Given the description of an element on the screen output the (x, y) to click on. 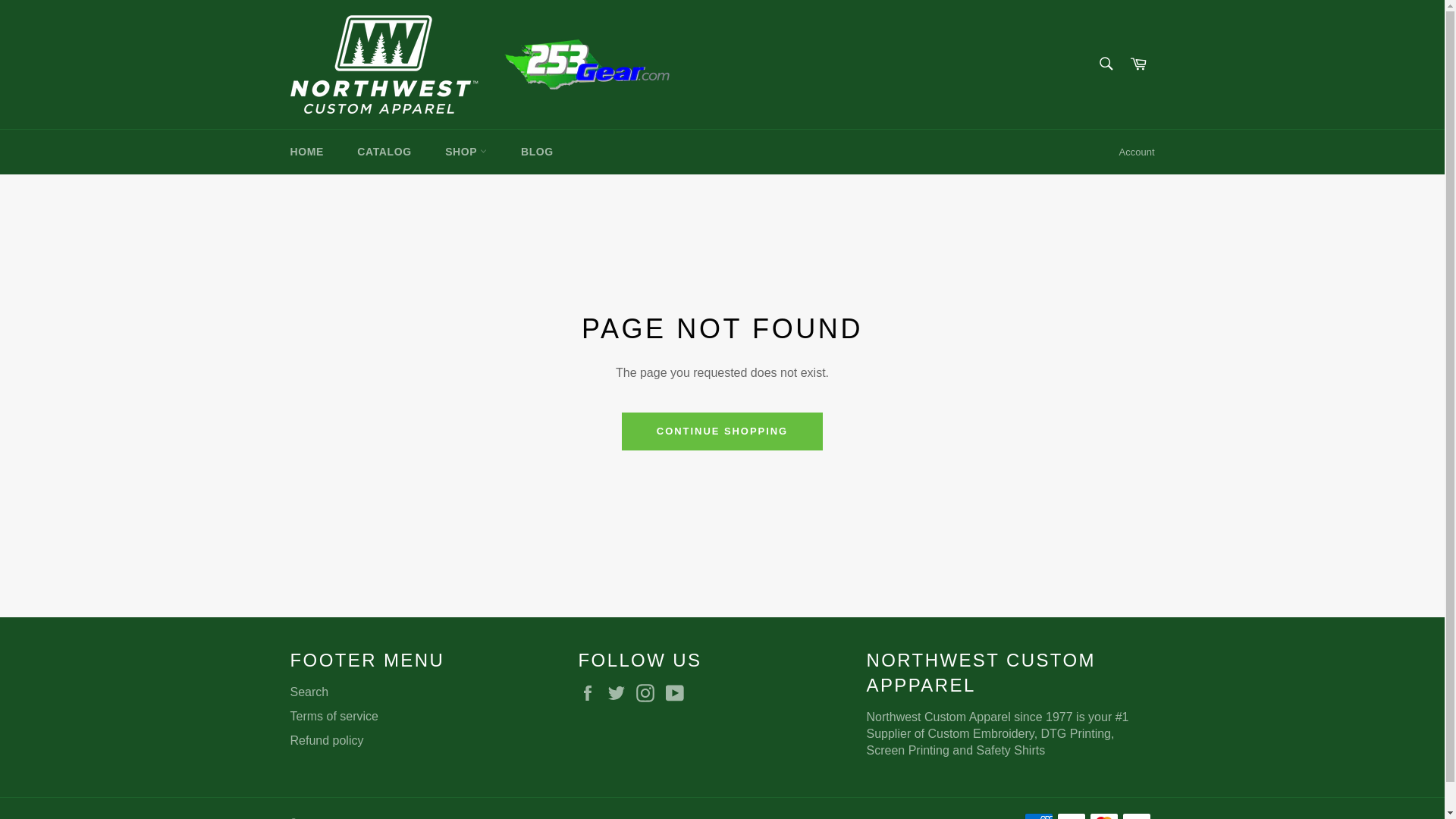
Facebook (591, 692)
NW Custom Apparel on YouTube (678, 692)
HOME (306, 151)
NW Custom Apparel on Facebook (591, 692)
Account (1136, 152)
Search (1104, 62)
SHOP (465, 151)
NW Custom Apparel on Twitter (620, 692)
Refund policy (325, 739)
Search (309, 691)
BLOG (537, 151)
Cart (1138, 63)
Terms of service (333, 716)
NW Custom Apparel on Instagram (649, 692)
CATALOG (384, 151)
